Given the description of an element on the screen output the (x, y) to click on. 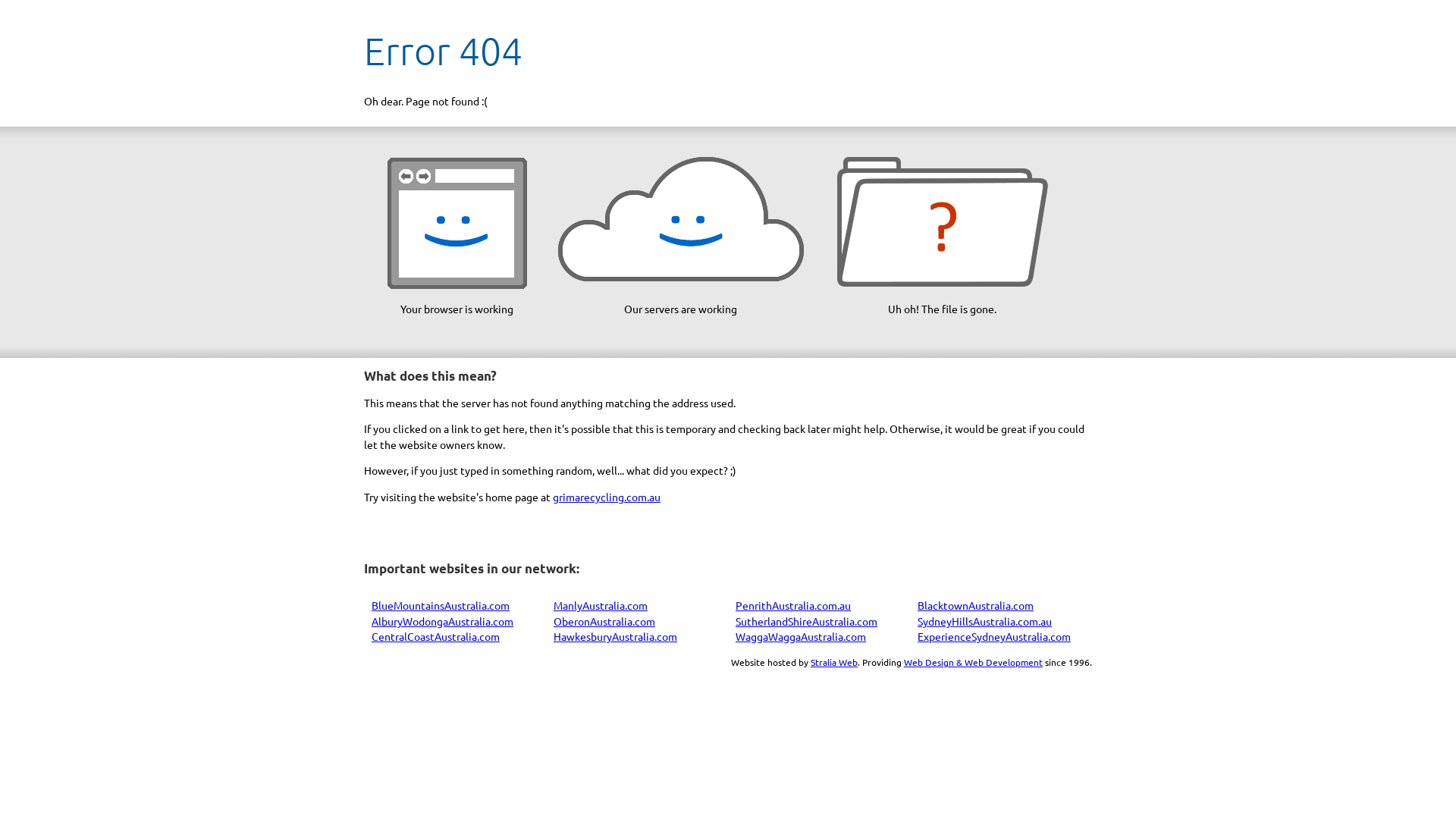
AlburyWodongaAustralia.com Element type: text (442, 620)
CentralCoastAustralia.com Element type: text (435, 636)
BlueMountainsAustralia.com Element type: text (440, 604)
ExperienceSydneyAustralia.com Element type: text (993, 636)
BlacktownAustralia.com Element type: text (975, 604)
SutherlandShireAustralia.com Element type: text (806, 620)
grimarecycling.com.au Element type: text (606, 496)
Stralia Web Element type: text (833, 661)
OberonAustralia.com Element type: text (604, 620)
ManlyAustralia.com Element type: text (600, 604)
WaggaWaggaAustralia.com Element type: text (800, 636)
SydneyHillsAustralia.com.au Element type: text (984, 620)
PenrithAustralia.com.au Element type: text (792, 604)
HawkesburyAustralia.com Element type: text (615, 636)
Web Design & Web Development Element type: text (972, 661)
